Given the description of an element on the screen output the (x, y) to click on. 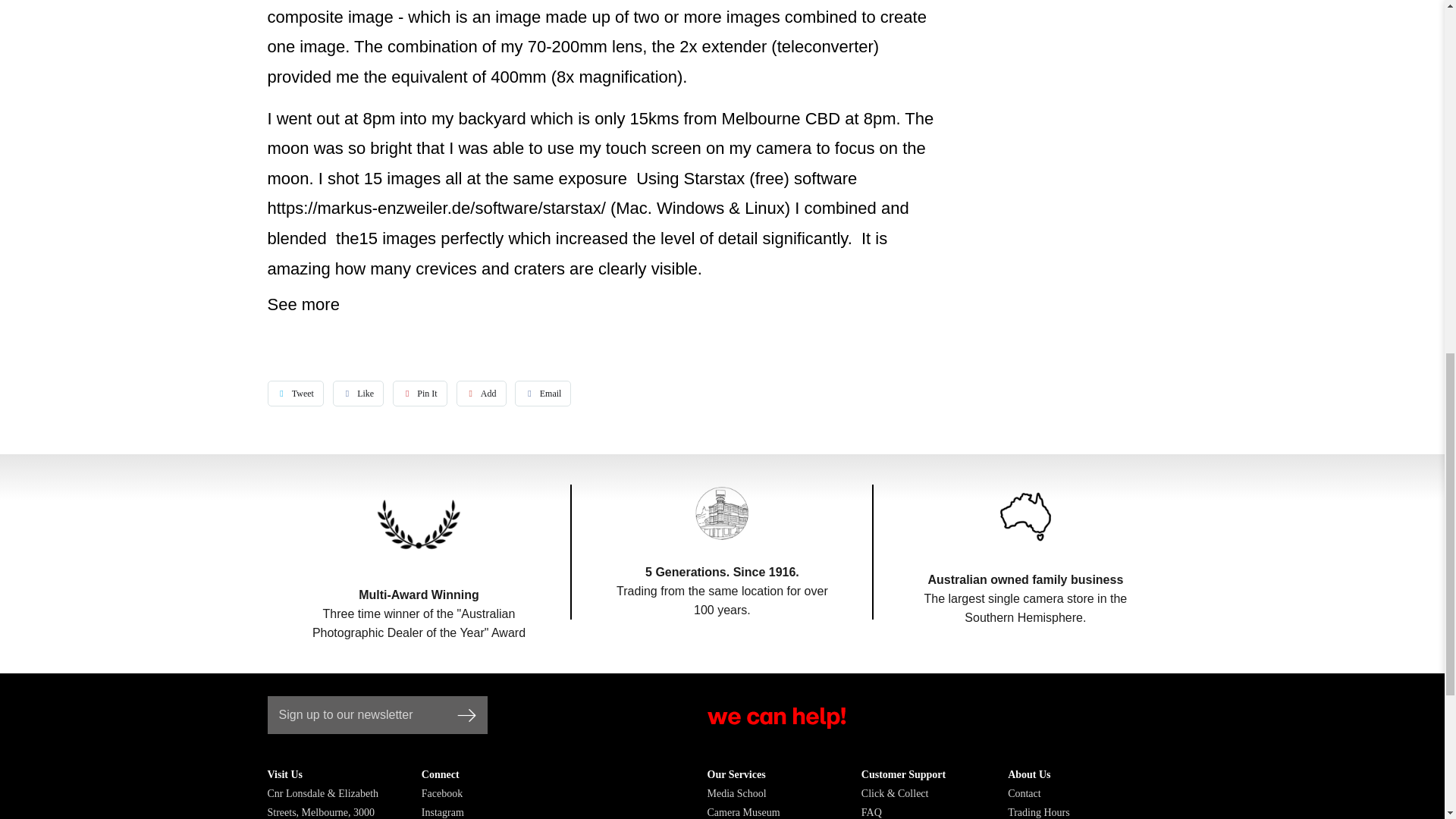
Like (358, 393)
Share this on Facebook (358, 393)
Instagram (443, 812)
See more (302, 303)
Share this on Pinterest (419, 393)
Tweet (294, 393)
Email (542, 393)
Add (481, 393)
Facebook (442, 793)
Camera Museum (742, 812)
Share this on Twitter (294, 393)
Contact (1024, 793)
FAQ (871, 812)
Pin It (419, 393)
Media School (735, 793)
